Given the description of an element on the screen output the (x, y) to click on. 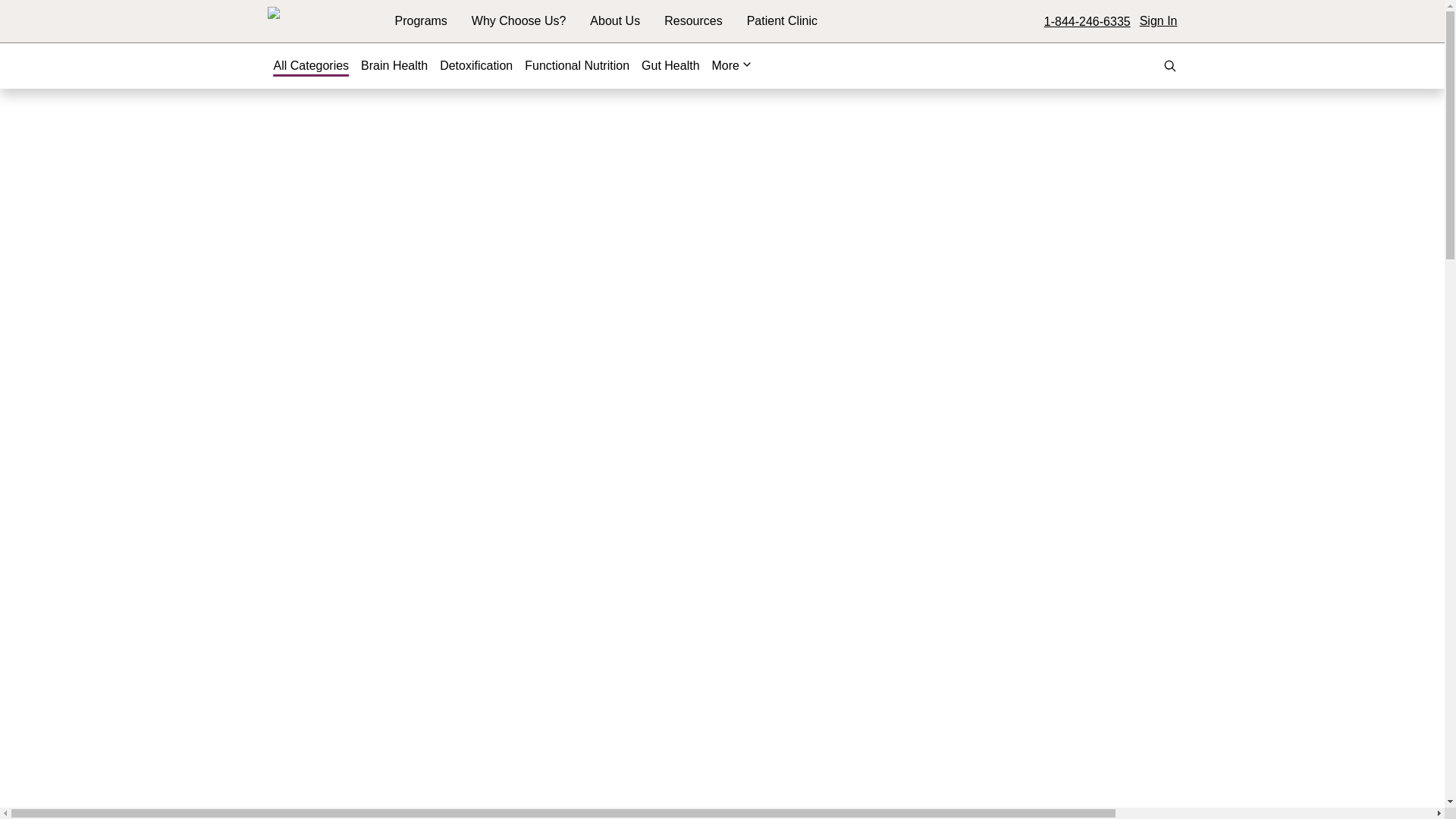
Resources (692, 21)
Detoxification (475, 65)
Patient Clinic (781, 20)
About Us (614, 21)
Brain Health (394, 65)
Gut Health (670, 65)
1-844-246-6335 (1087, 21)
All Categories (311, 65)
Why Choose Us? (518, 21)
Functional Nutrition (576, 65)
